Given the description of an element on the screen output the (x, y) to click on. 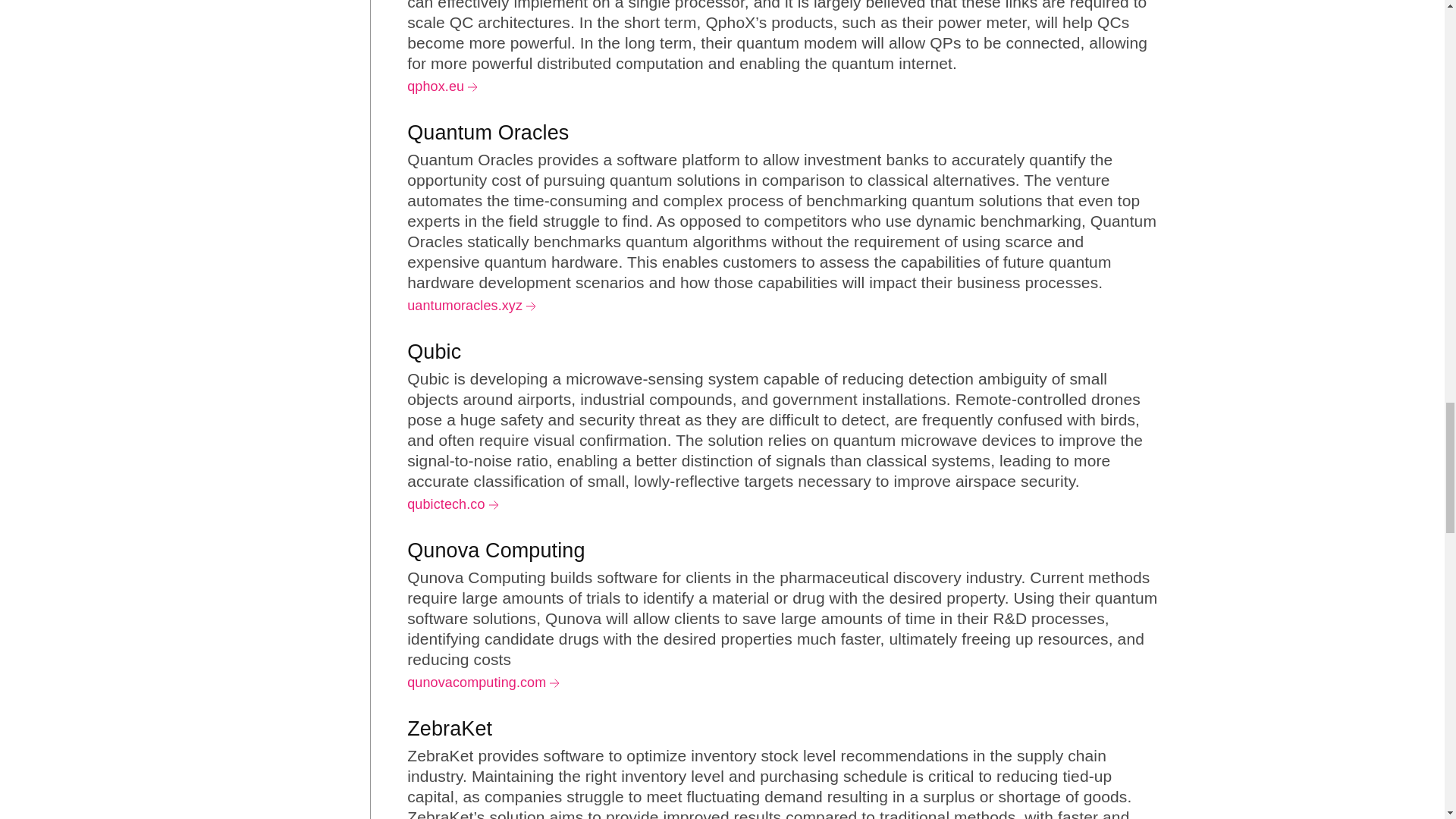
qphox.eu (442, 86)
qunovacomputing.com (483, 682)
qubictech.co (452, 503)
uantumoracles.xyz (471, 305)
